Given the description of an element on the screen output the (x, y) to click on. 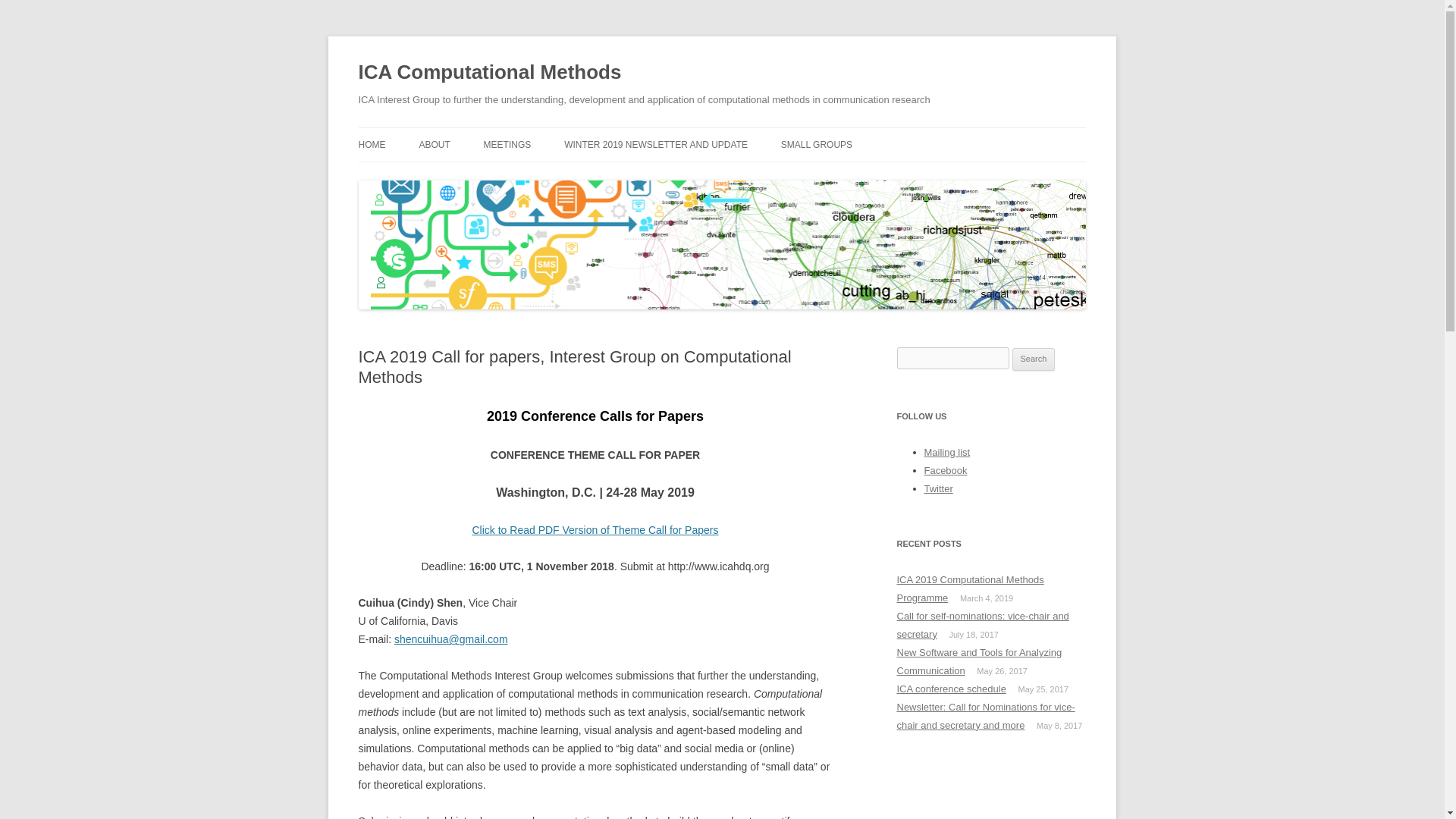
SMALL GROUPS (815, 144)
Facebook (944, 470)
Skip to content (757, 132)
Mailing list (946, 451)
ICA Computational Methods (489, 72)
ABOUT (434, 144)
ICA 2019 Computational Methods Programme (969, 588)
WINTER 2019 NEWSLETTER AND UPDATE (656, 144)
Skip to content (757, 132)
MEETINGS (507, 144)
New Software and Tools for Analyzing Communication (978, 661)
Call for self-nominations: vice-chair and secretary (982, 624)
Search (1033, 359)
Search (1033, 359)
Twitter (937, 488)
